Given the description of an element on the screen output the (x, y) to click on. 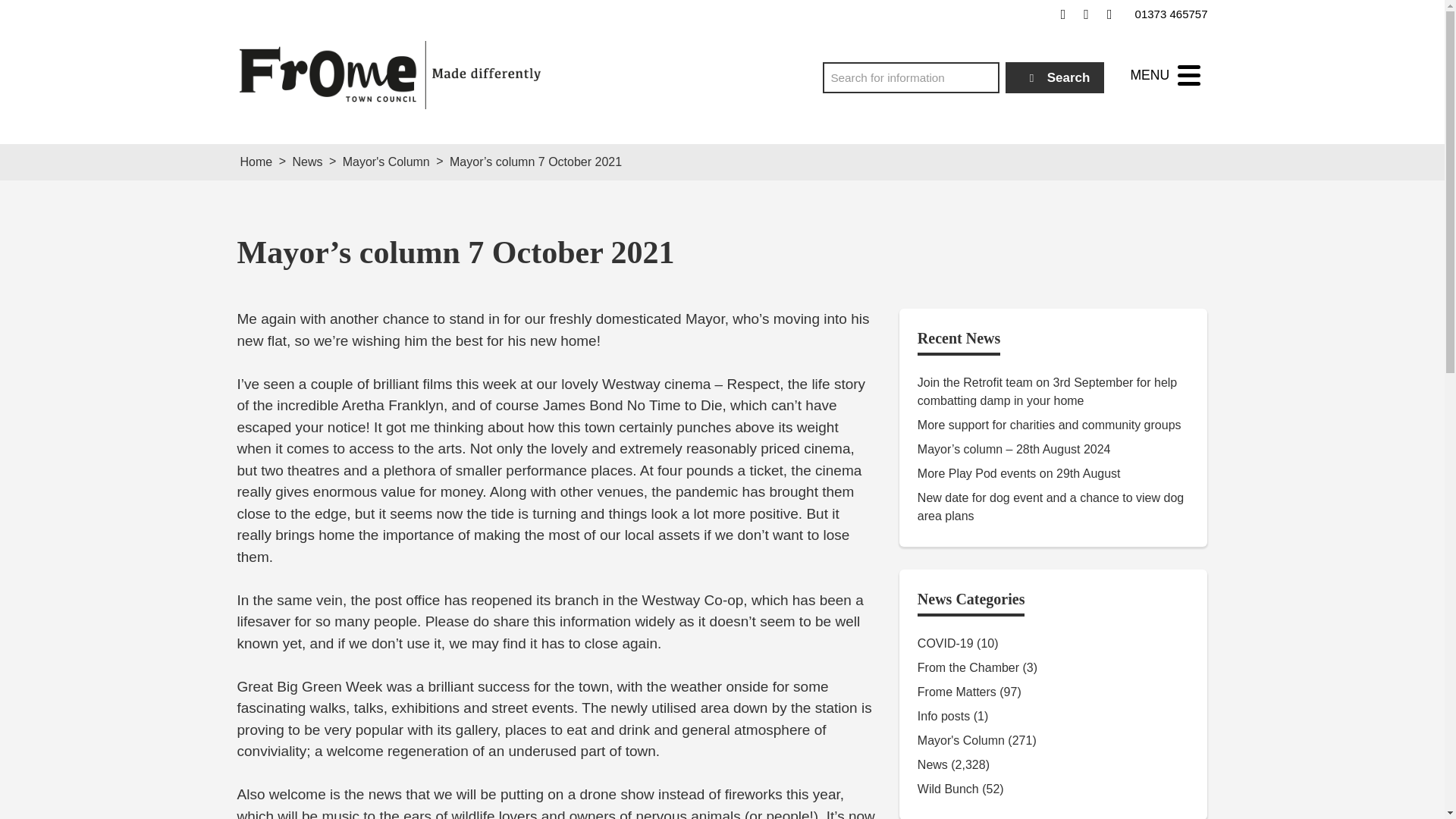
Go to News. (306, 161)
Frome Town Council's Facebook (1063, 13)
MENU (1164, 75)
Search (1055, 77)
Go to Home. (256, 161)
Go to the Mayor's Column Category archives. (385, 161)
Frome Town Council's Instagram (1109, 13)
Frome Town Council's Twitter (1085, 13)
